Given the description of an element on the screen output the (x, y) to click on. 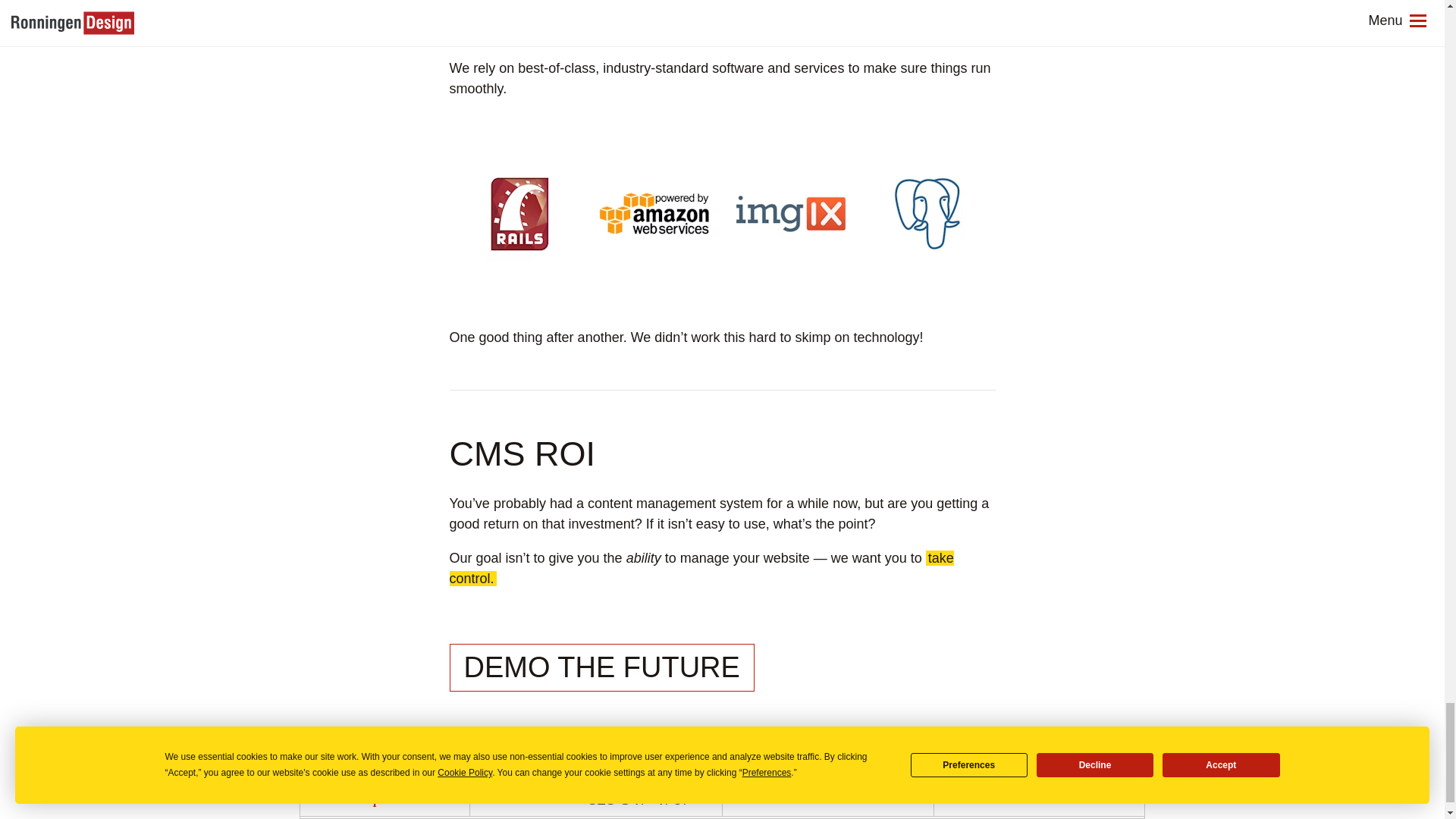
COOKIES (808, 796)
DEMO THE FUTURE (601, 667)
Inquiries (384, 796)
PRIVACY (754, 796)
828-547-4767 (639, 798)
